Given the description of an element on the screen output the (x, y) to click on. 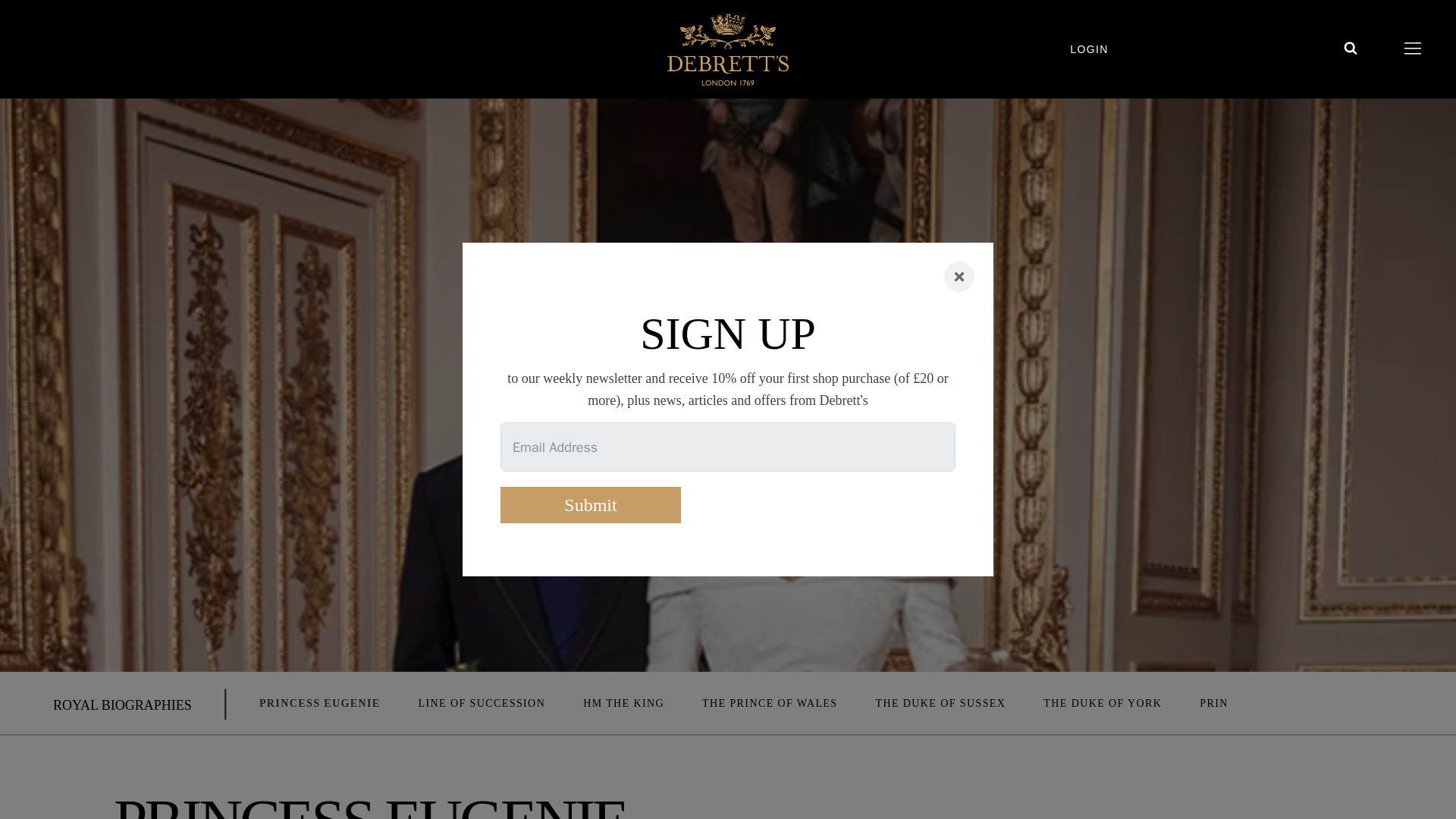
LINE OF SUCCESSION (482, 703)
THE PRINCE OF WALES (769, 703)
THE DUKE OF SUSSEX (940, 703)
THE DUKE OF YORK (1102, 703)
PRINCESS BEATRICE (1259, 703)
LOGIN (1107, 48)
HM THE KING (623, 703)
